Given the description of an element on the screen output the (x, y) to click on. 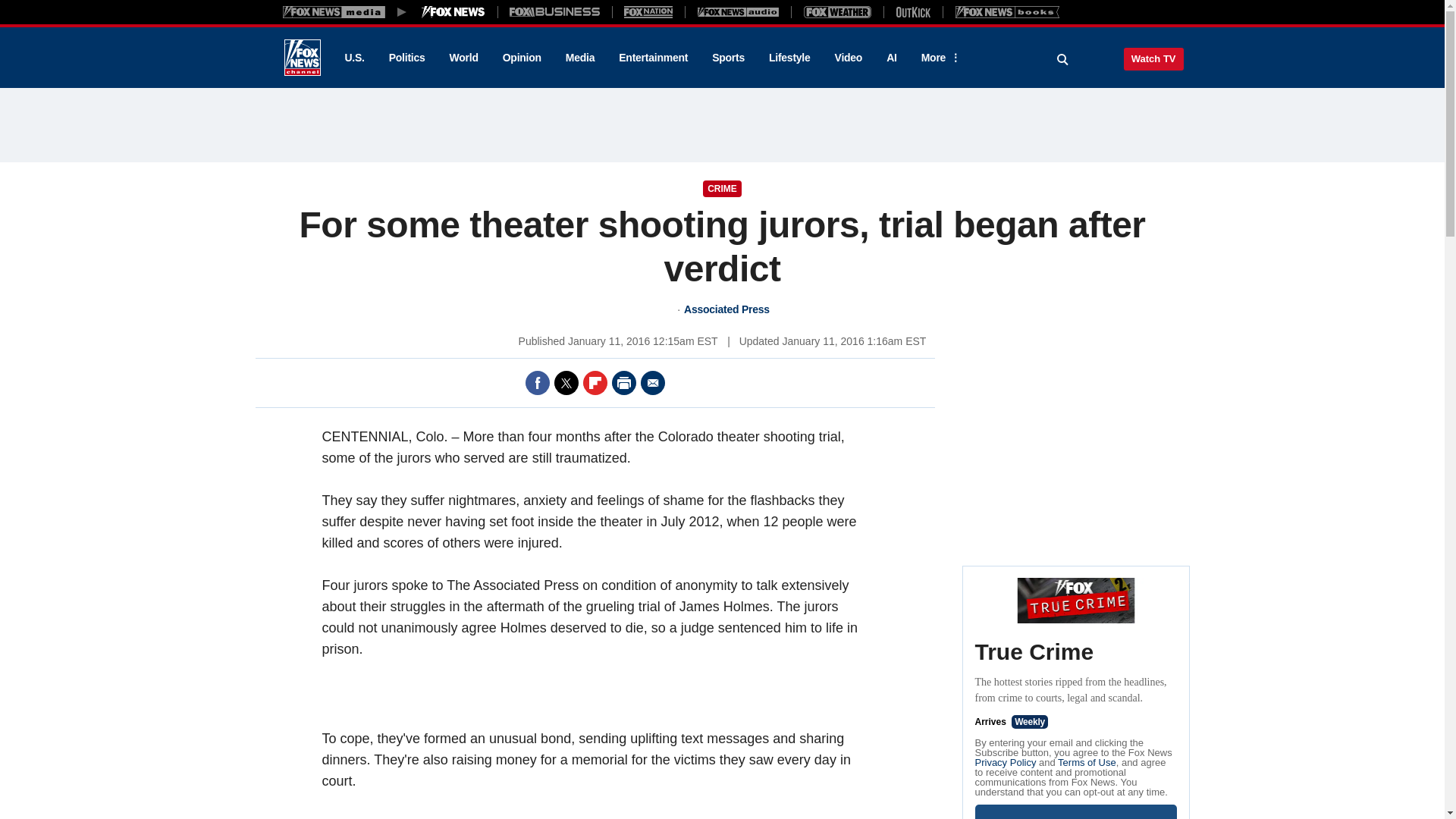
Media (580, 57)
World (464, 57)
Politics (407, 57)
Watch TV (1153, 58)
Fox Nation (648, 11)
Outkick (912, 11)
Fox News (301, 57)
Fox Weather (836, 11)
Entertainment (653, 57)
Opinion (521, 57)
Fox News Audio (737, 11)
U.S. (353, 57)
Fox Business (554, 11)
Lifestyle (789, 57)
Books (1007, 11)
